Given the description of an element on the screen output the (x, y) to click on. 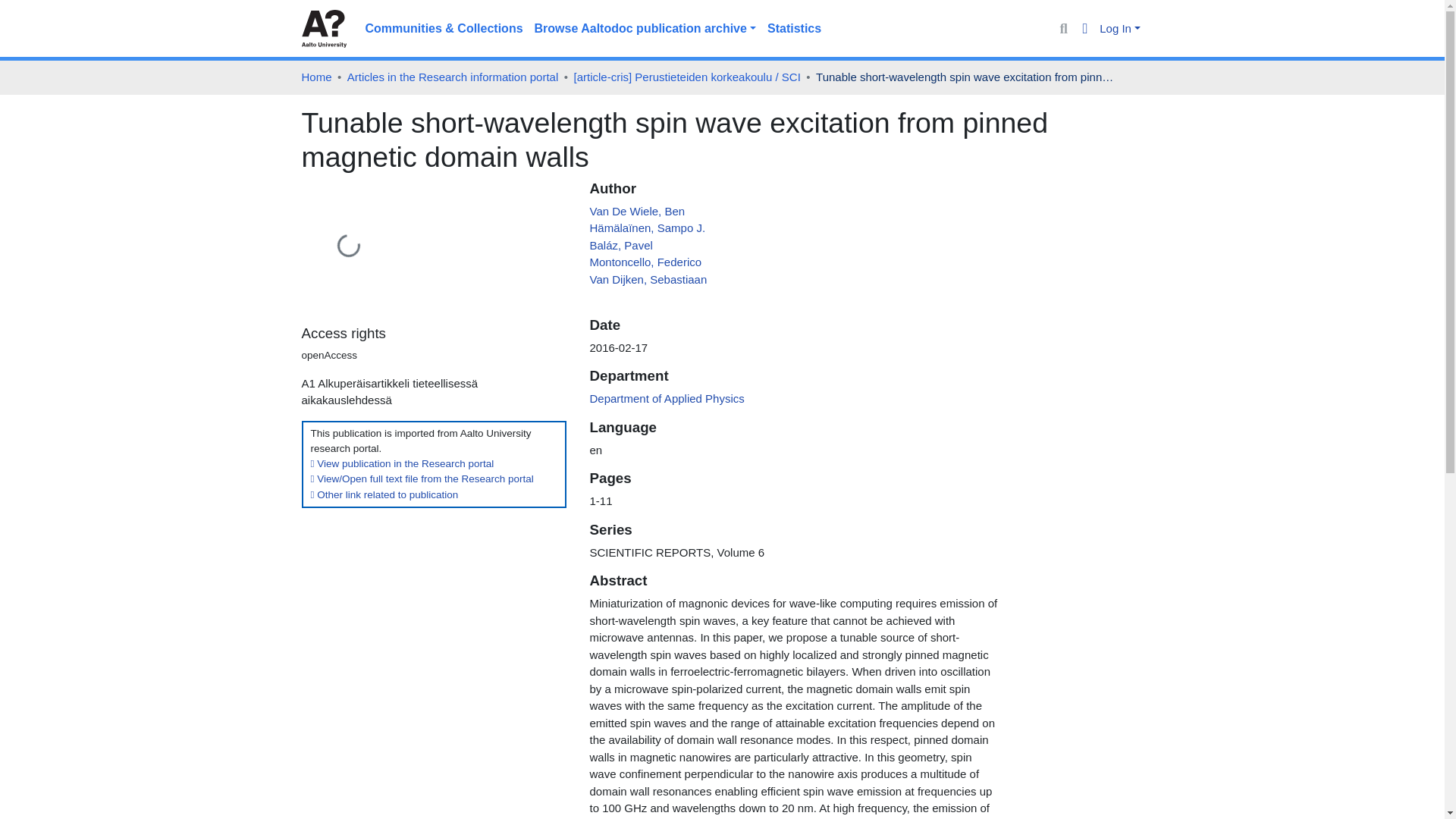
Van Dijken, Sebastiaan (647, 278)
Department of Applied Physics (666, 398)
View publication in the Research portal (403, 463)
Statistics (794, 28)
Van De Wiele, Ben (636, 210)
Statistics (794, 28)
Log In (1119, 28)
Articles in the Research information portal (452, 77)
Home (316, 77)
Language switch (1085, 28)
